Given the description of an element on the screen output the (x, y) to click on. 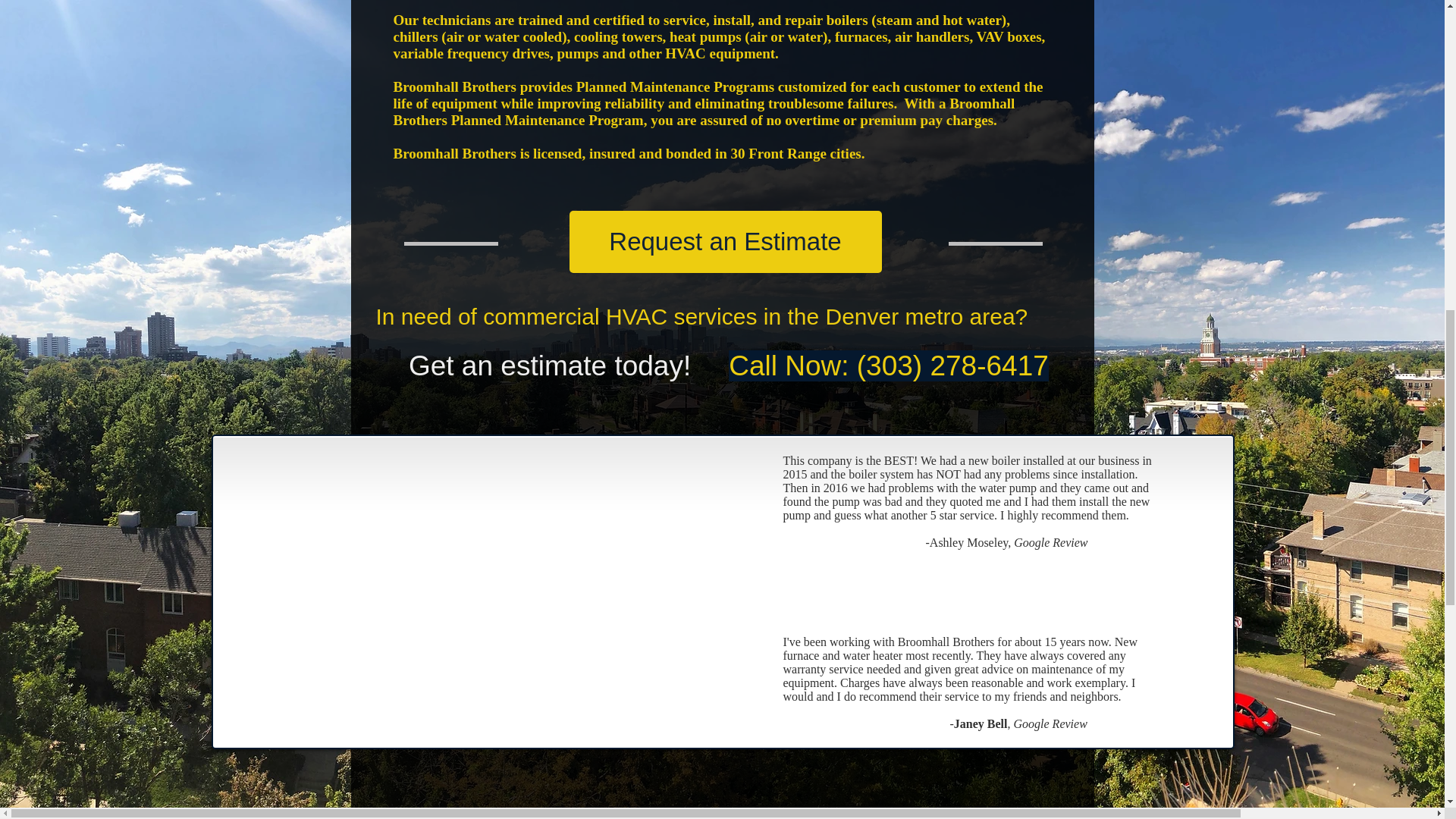
Request an Estimate (724, 241)
